Given the description of an element on the screen output the (x, y) to click on. 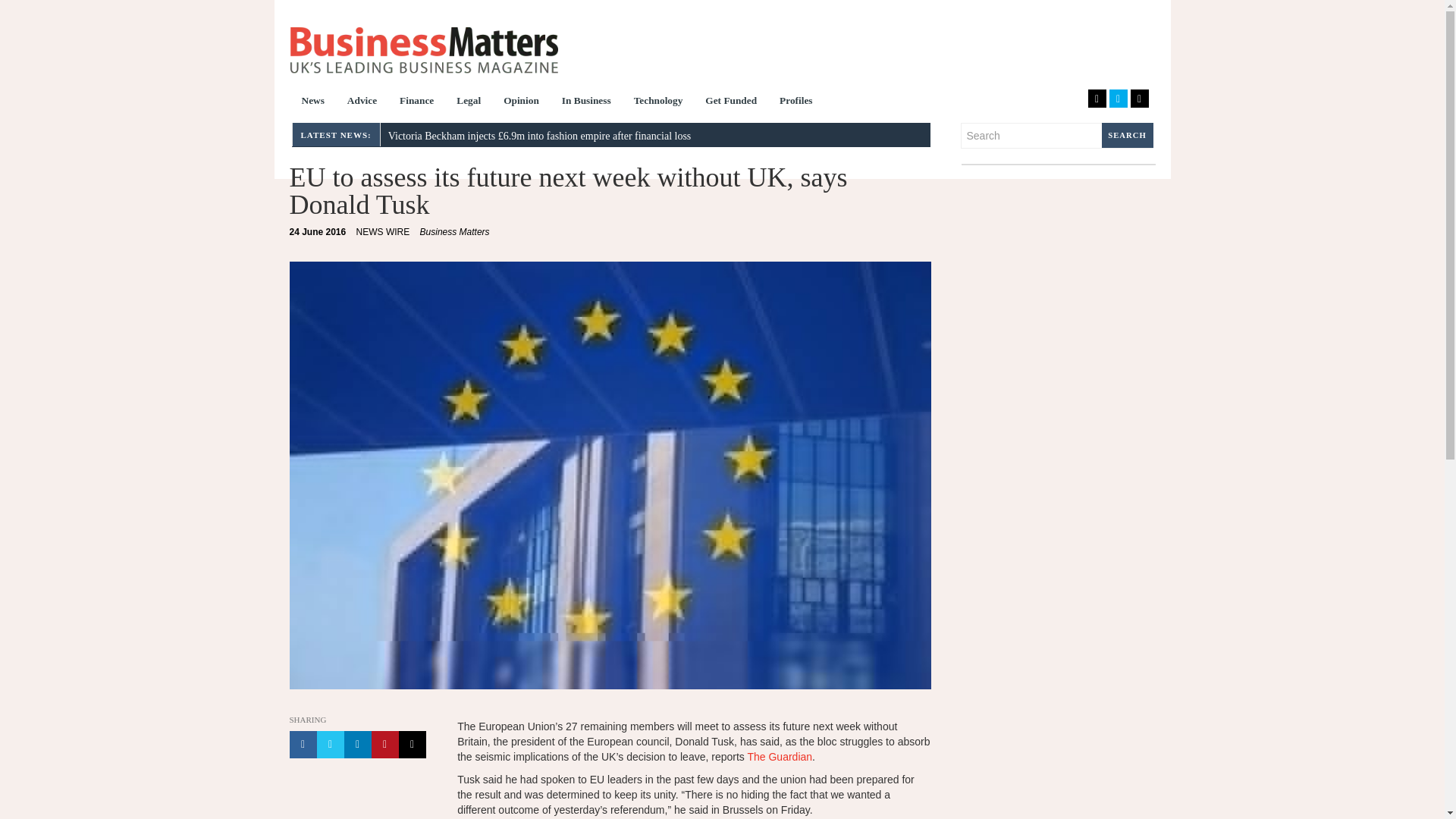
Business Matters (454, 231)
Advice (362, 101)
NEWS WIRE (383, 231)
24 June 2016 (317, 231)
Legal (468, 101)
In Business (586, 101)
Business Matters (423, 50)
Opinion (521, 101)
Profiles (796, 101)
Get Funded (731, 101)
